Given the description of an element on the screen output the (x, y) to click on. 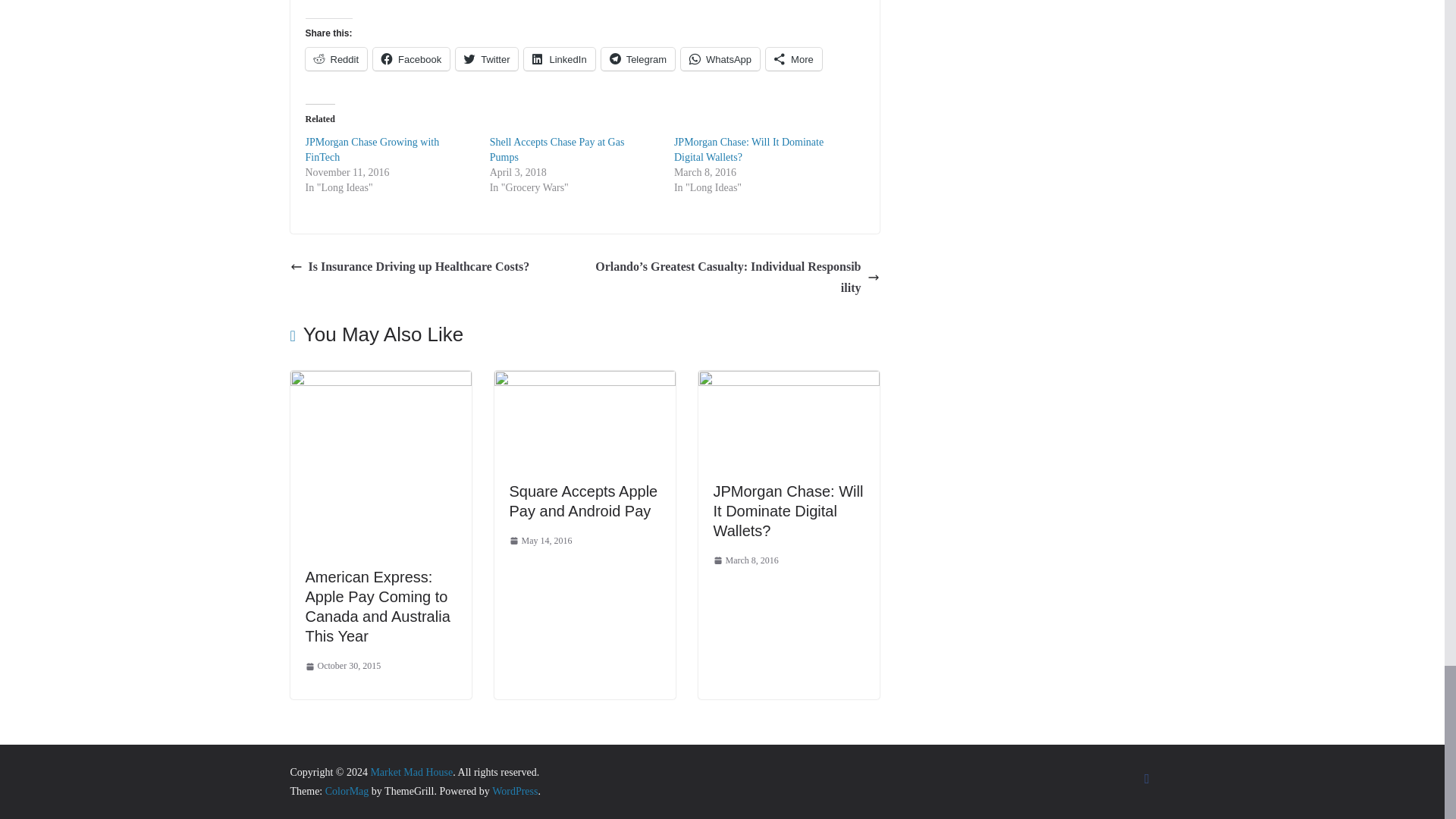
LinkedIn (559, 58)
Click to share on Twitter (486, 58)
Facebook (410, 58)
Click to share on Telegram (638, 58)
JPMorgan Chase Growing with FinTech (371, 149)
Twitter (486, 58)
Click to share on Facebook (410, 58)
JPMorgan Chase: Will It Dominate Digital Wallets? (749, 149)
Click to share on Reddit (335, 58)
Reddit (335, 58)
Shell Accepts Chase Pay at Gas Pumps (556, 149)
Click to share on WhatsApp (720, 58)
Click to share on LinkedIn (559, 58)
